Given the description of an element on the screen output the (x, y) to click on. 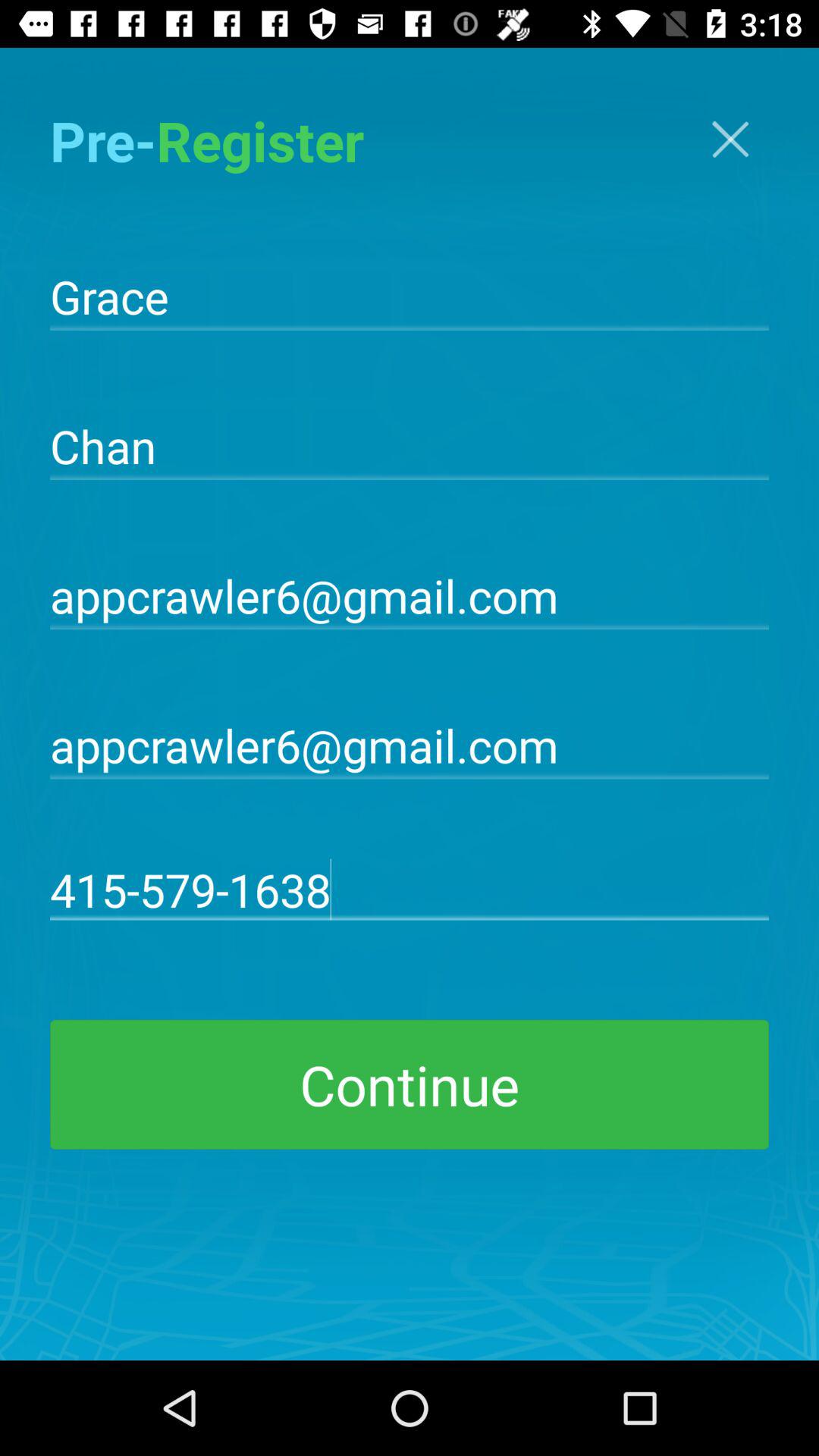
press the icon above the grace (730, 139)
